Given the description of an element on the screen output the (x, y) to click on. 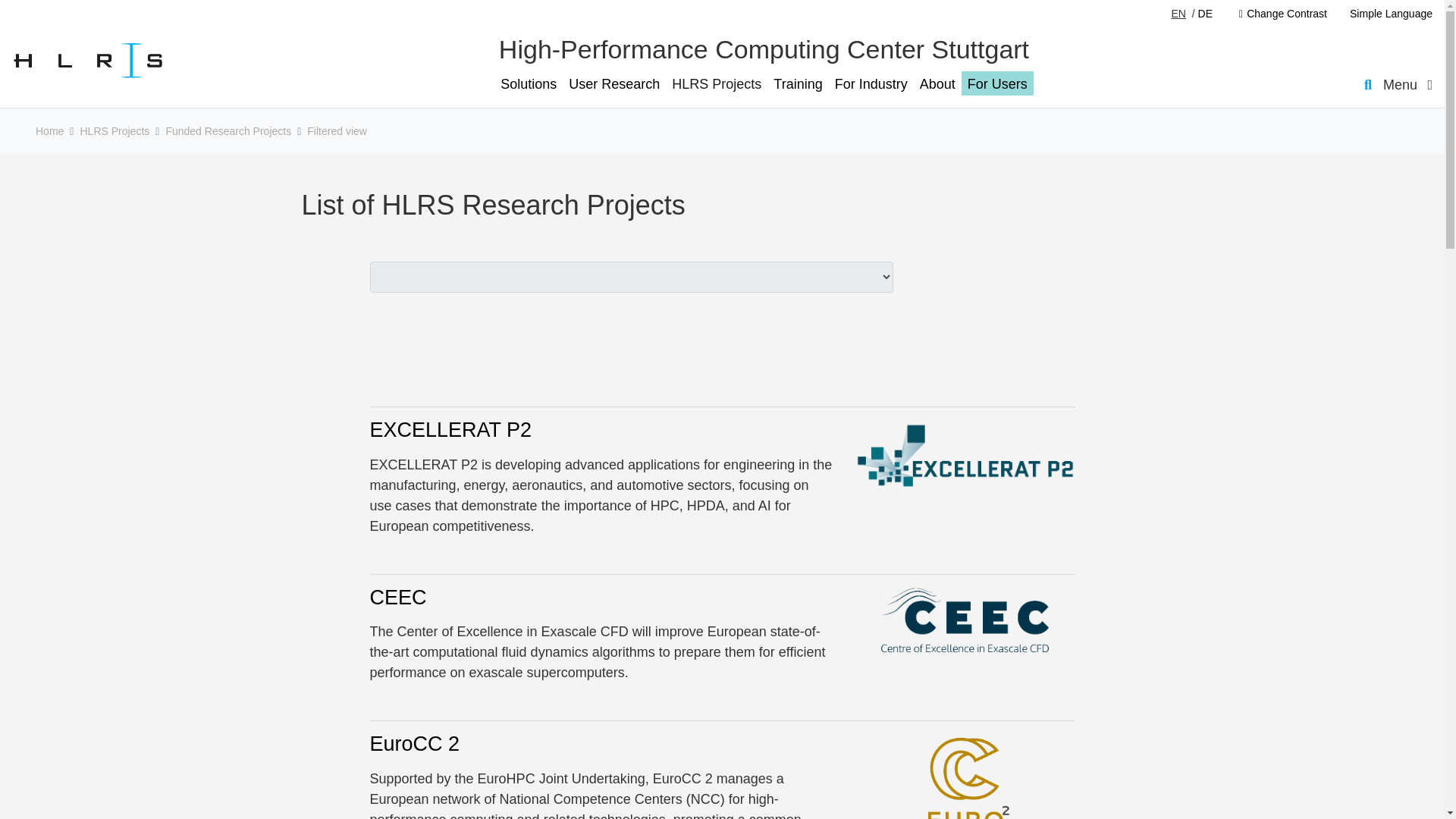
For Users (996, 83)
EXCELLERAT P2 (450, 429)
HLRS Projects (716, 83)
User Research (614, 83)
EuroCC 2 (414, 743)
About (937, 83)
Solutions (528, 83)
Training (797, 83)
For Industry (870, 83)
Change Contrast (1282, 13)
CEEC (397, 597)
Simple Language (1385, 13)
